Given the description of an element on the screen output the (x, y) to click on. 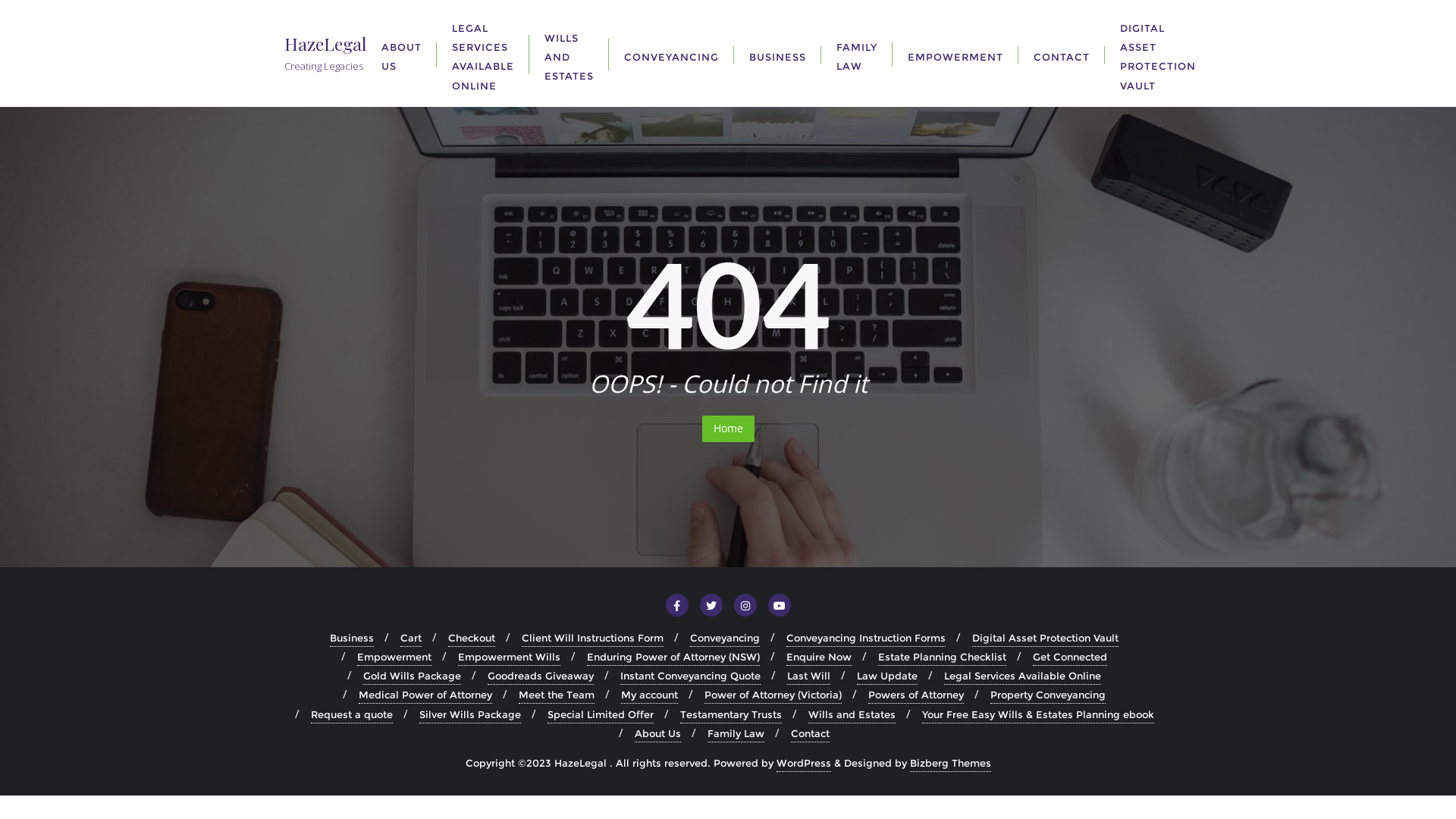
HazeLegal
Creating Legacies Element type: text (325, 52)
Enquire Now Element type: text (818, 656)
Enduring Power of Attorney (NSW) Element type: text (672, 656)
Empowerment Wills Element type: text (509, 656)
Home Element type: text (728, 428)
Medical Power of Attorney Element type: text (425, 694)
WordPress Element type: text (803, 762)
Wills and Estates Element type: text (851, 714)
Powers of Attorney Element type: text (915, 694)
FAMILY LAW Element type: text (856, 52)
Gold Wills Package Element type: text (412, 675)
Silver Wills Package Element type: text (469, 714)
Bizberg Themes Element type: text (950, 762)
Digital Asset Protection Vault Element type: text (1045, 637)
Contact Element type: text (809, 733)
ABOUT US Element type: text (401, 52)
Get Connected Element type: text (1069, 656)
Goodreads Giveaway Element type: text (540, 675)
Estate Planning Checklist Element type: text (942, 656)
About Us Element type: text (657, 733)
WILLS AND ESTATES Element type: text (568, 53)
Legal Services Available Online Element type: text (1022, 675)
CONVEYANCING Element type: text (671, 53)
Property Conveyancing Element type: text (1047, 694)
Conveyancing Instruction Forms Element type: text (865, 637)
Cart Element type: text (410, 637)
Testamentary Trusts Element type: text (730, 714)
EMPOWERMENT Element type: text (955, 53)
Instant Conveyancing Quote Element type: text (690, 675)
BUSINESS Element type: text (777, 53)
Family Law Element type: text (735, 733)
DIGITAL ASSET PROTECTION VAULT Element type: text (1157, 53)
Business Element type: text (351, 637)
Meet the Team Element type: text (556, 694)
Special Limited Offer Element type: text (600, 714)
Power of Attorney (Victoria) Element type: text (772, 694)
Last Will Element type: text (808, 675)
Request a quote Element type: text (351, 714)
LEGAL SERVICES AVAILABLE ONLINE Element type: text (482, 53)
Empowerment Element type: text (394, 656)
Law Update Element type: text (886, 675)
My account Element type: text (649, 694)
CONTACT Element type: text (1061, 53)
Conveyancing Element type: text (724, 637)
Your Free Easy Wills & Estates Planning ebook Element type: text (1038, 714)
Client Will Instructions Form Element type: text (592, 637)
Checkout Element type: text (471, 637)
